Given the description of an element on the screen output the (x, y) to click on. 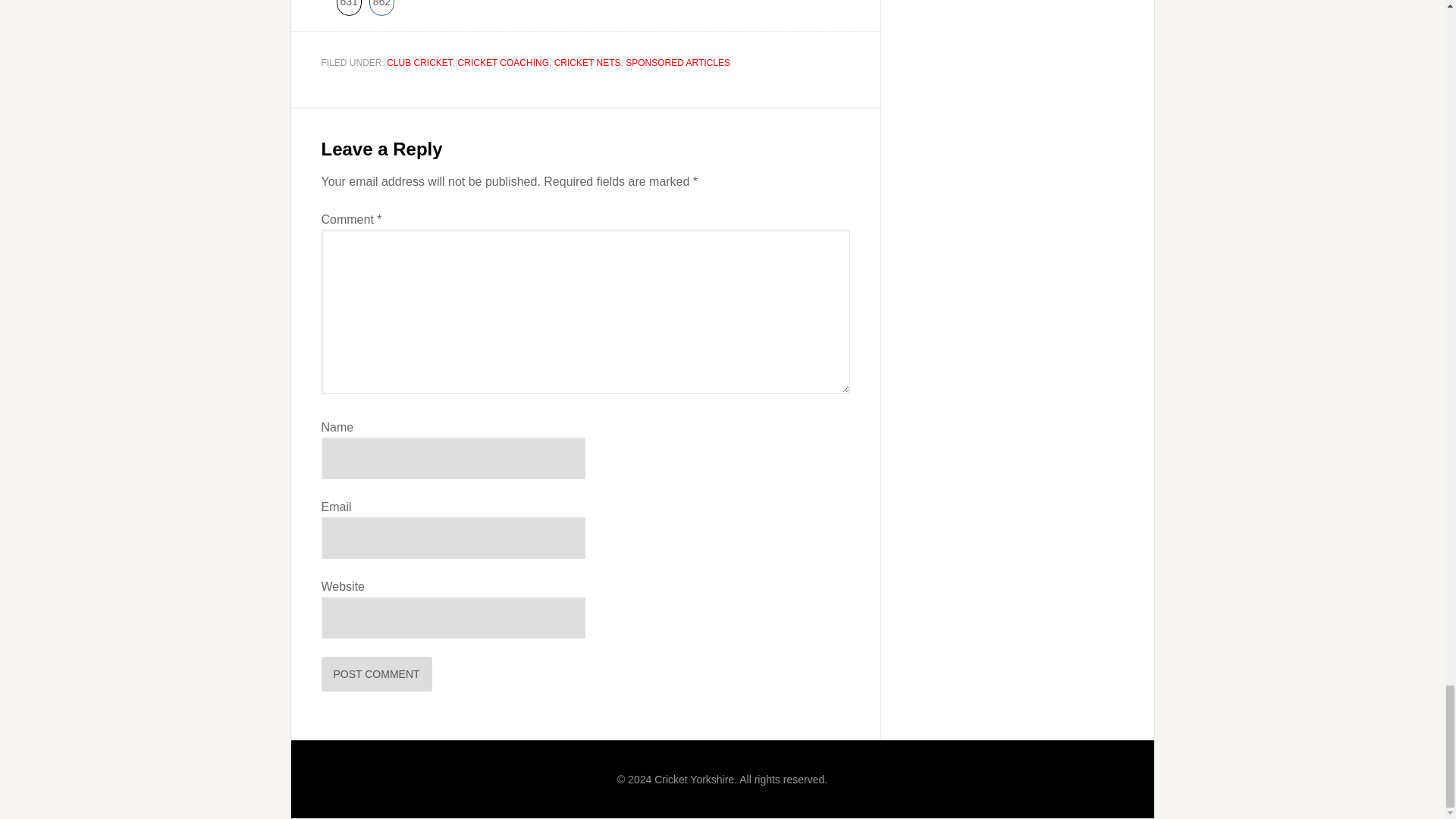
Post Comment (348, 7)
CLUB CRICKET (381, 7)
